Given the description of an element on the screen output the (x, y) to click on. 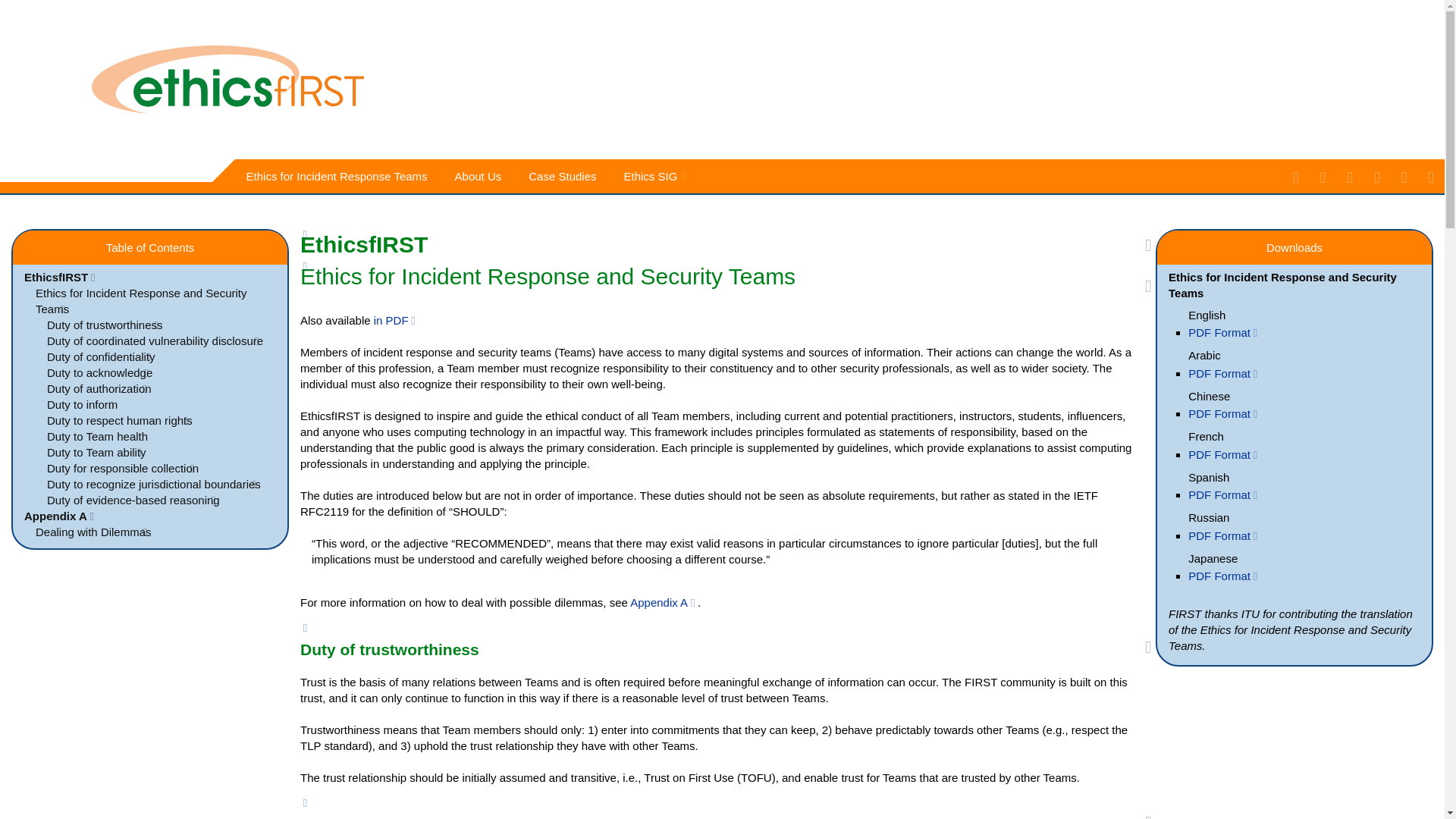
EthicsfIRST (60, 277)
Ethics SIG (653, 175)
English (1195, 314)
Japanese (1201, 558)
Duty of trustworthiness (101, 324)
Duty to acknowledge (96, 372)
in PDF (396, 319)
Arabic (1193, 354)
Russian (1197, 517)
French (1195, 436)
Duty of coordinated vulnerability disclosure (151, 340)
About Us (481, 175)
Case Studies (563, 175)
Ethics for Incident Response Teams (339, 175)
Ethics for Incident Response and Security Teams (135, 300)
